Given the description of an element on the screen output the (x, y) to click on. 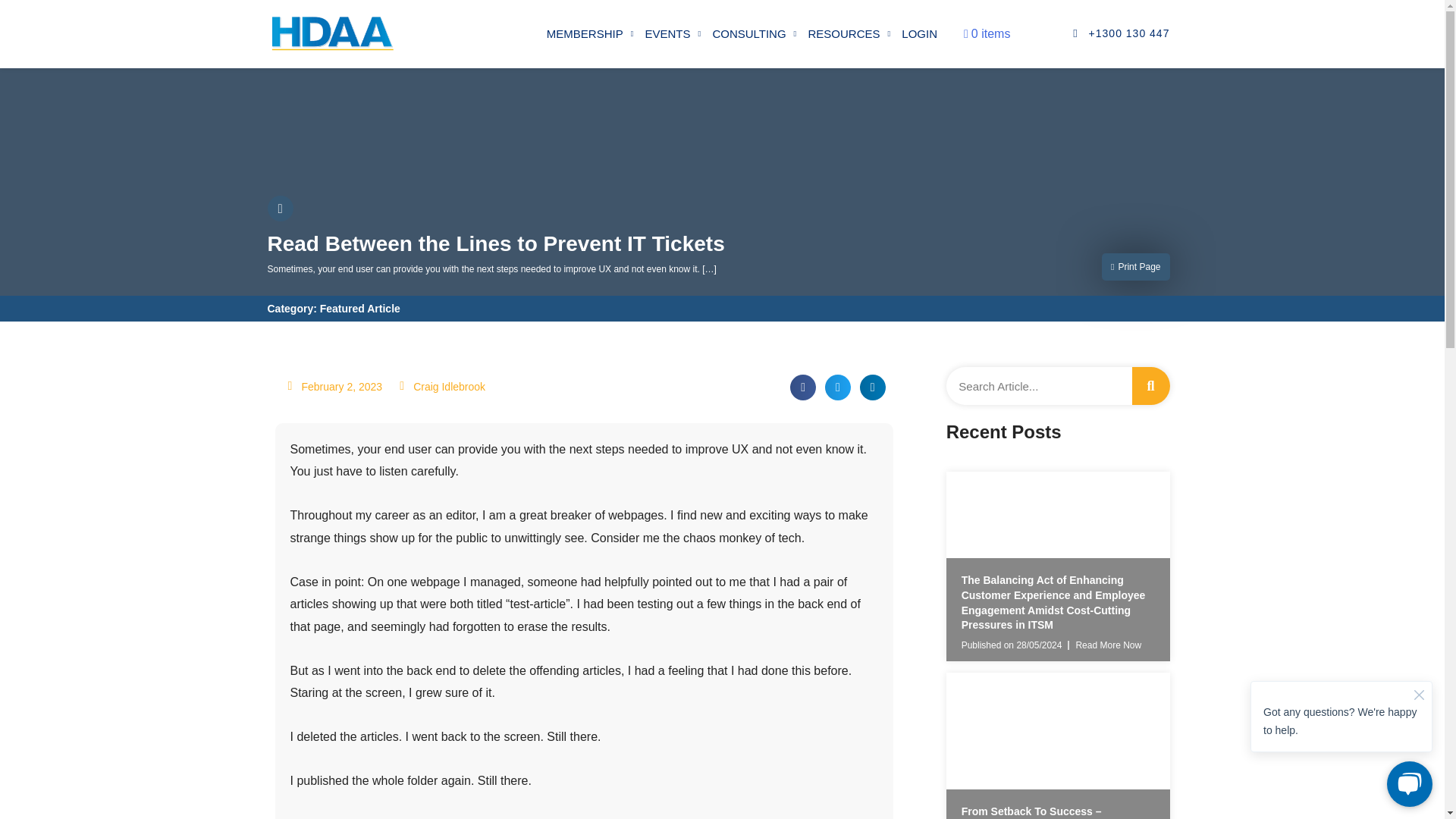
RESOURCES (848, 33)
CONSULTING (753, 33)
Start shopping (987, 33)
MEMBERSHIP (590, 33)
